Given the description of an element on the screen output the (x, y) to click on. 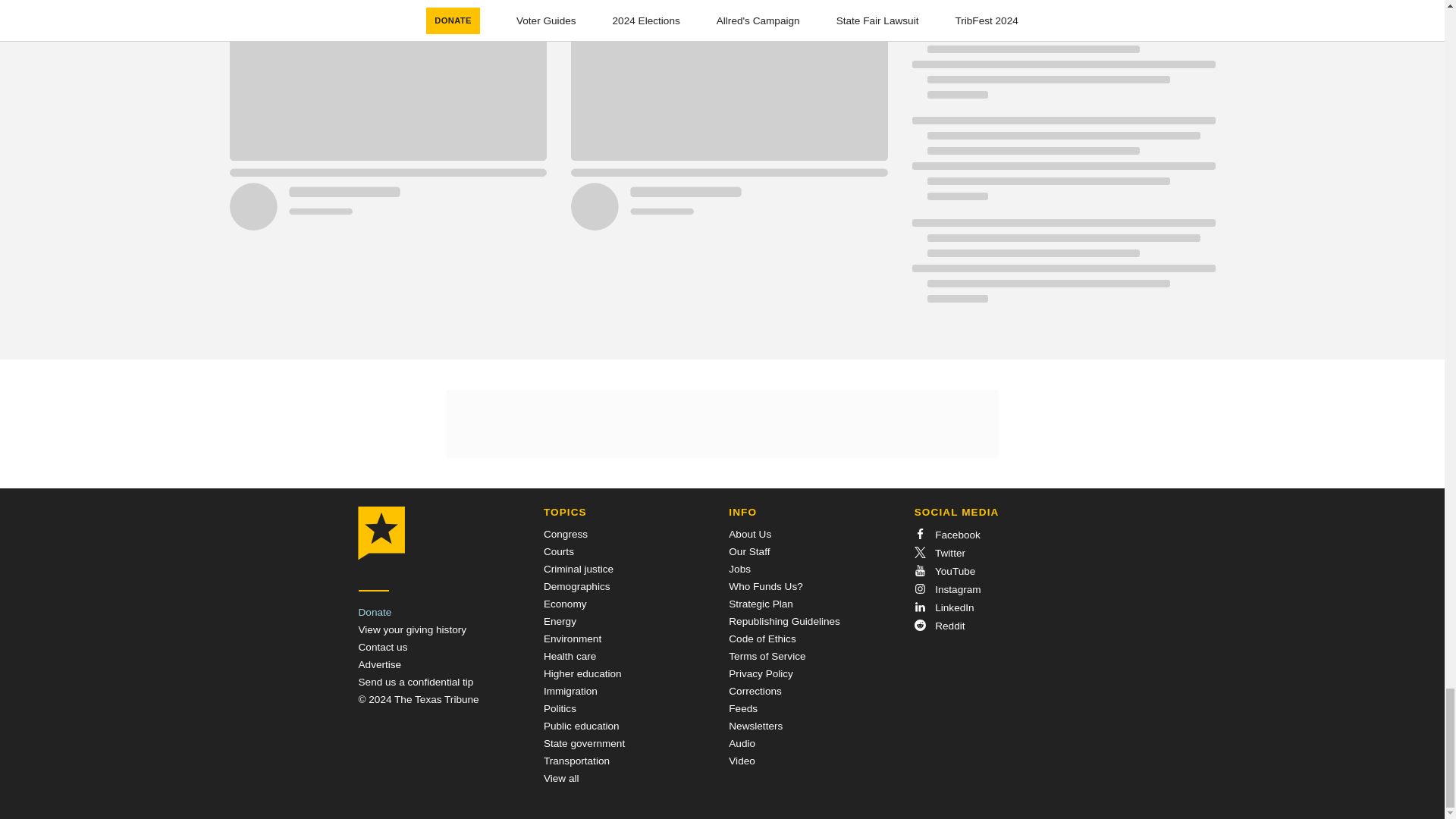
Loading indicator (1062, 166)
Code of Ethics (761, 638)
Strategic Plan (761, 603)
Contact us (382, 646)
Loading indicator (1062, 64)
Terms of Service (767, 655)
Feeds (743, 708)
Facebook (946, 534)
Advertise (379, 664)
Donate (374, 612)
